Given the description of an element on the screen output the (x, y) to click on. 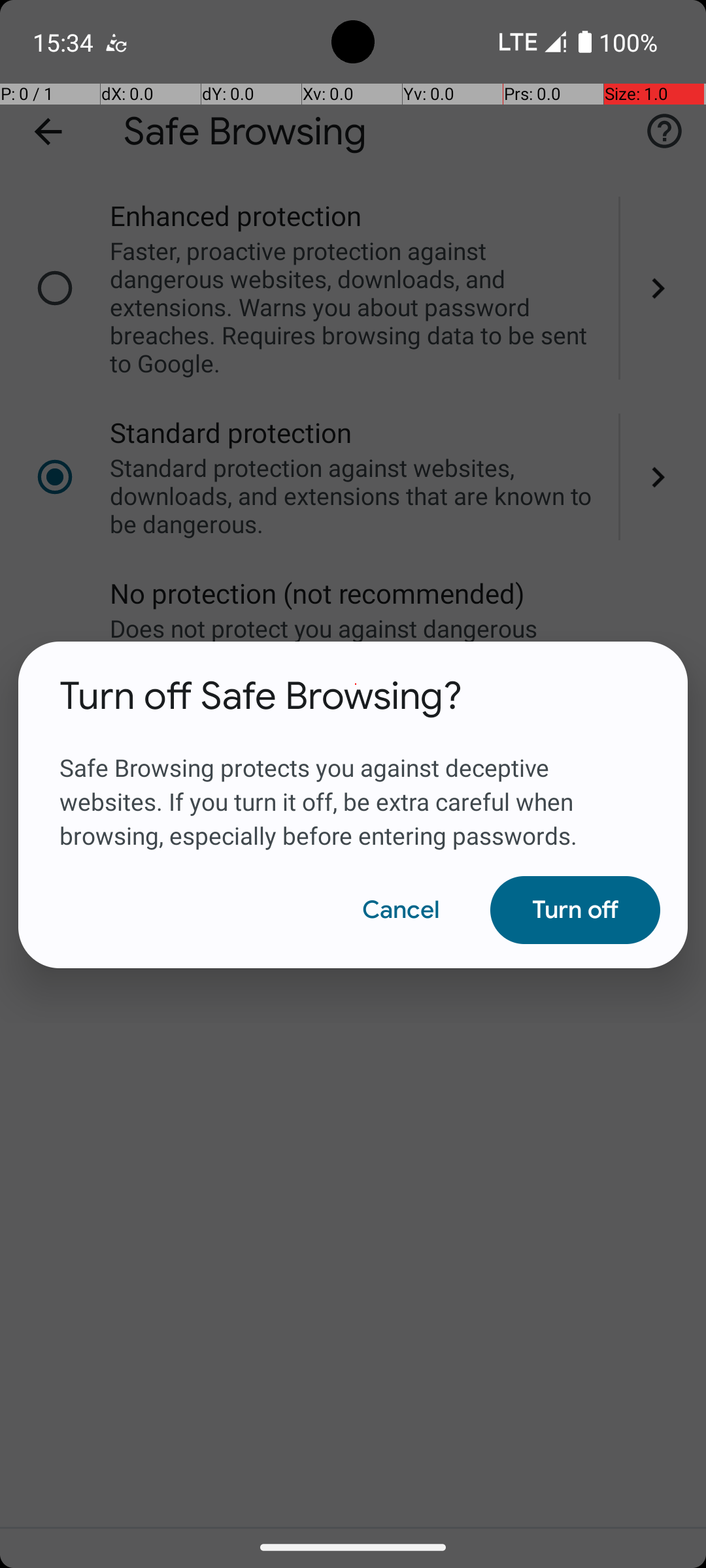
Turn off Safe Browsing? Element type: android.widget.TextView (260, 695)
Safe Browsing protects you against deceptive websites. If you turn it off, be extra careful when browsing, especially before entering passwords. Element type: android.widget.TextView (352, 785)
Turn off Element type: android.widget.Button (575, 909)
